Given the description of an element on the screen output the (x, y) to click on. 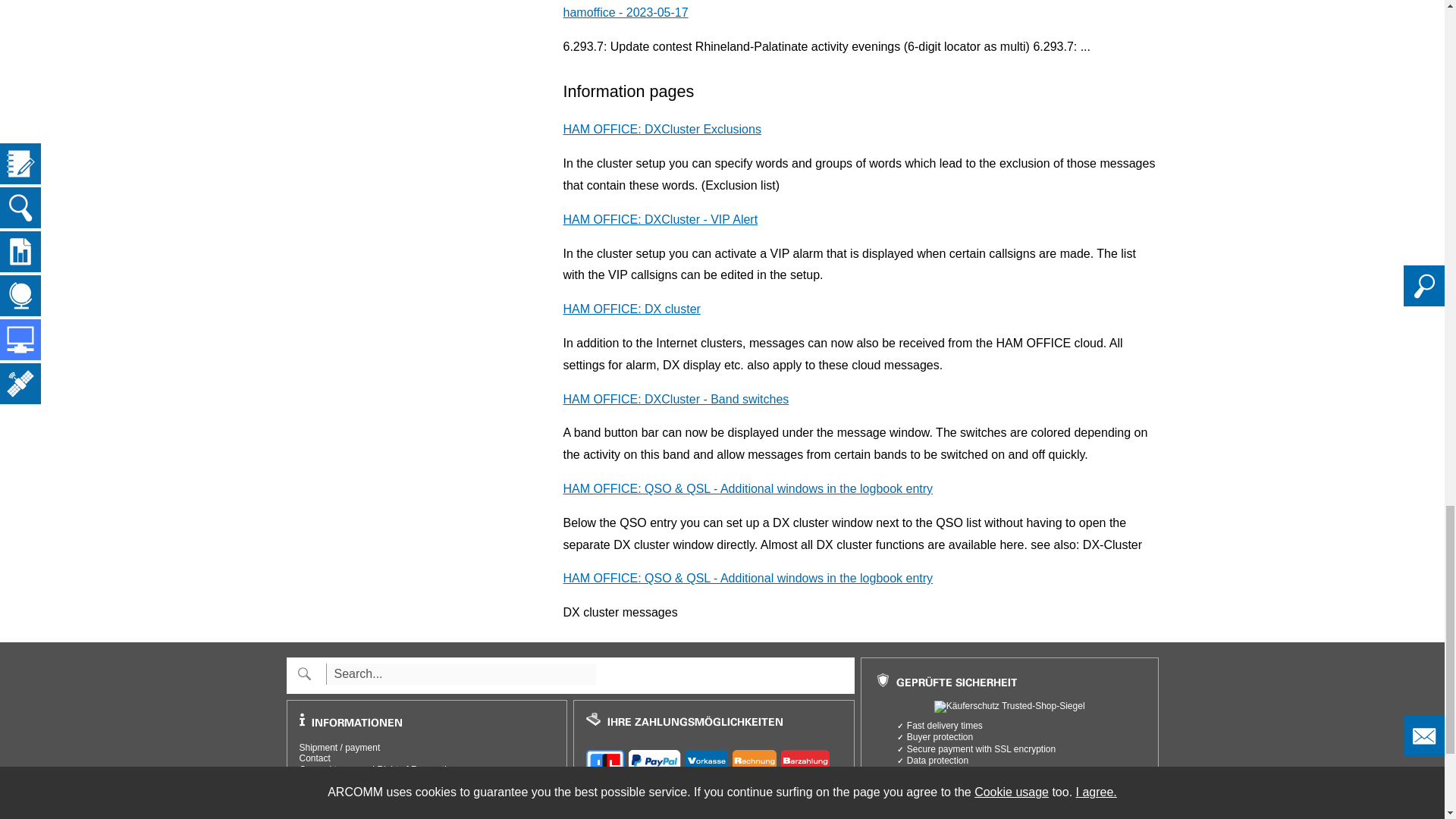
Search... (460, 673)
